Given the description of an element on the screen output the (x, y) to click on. 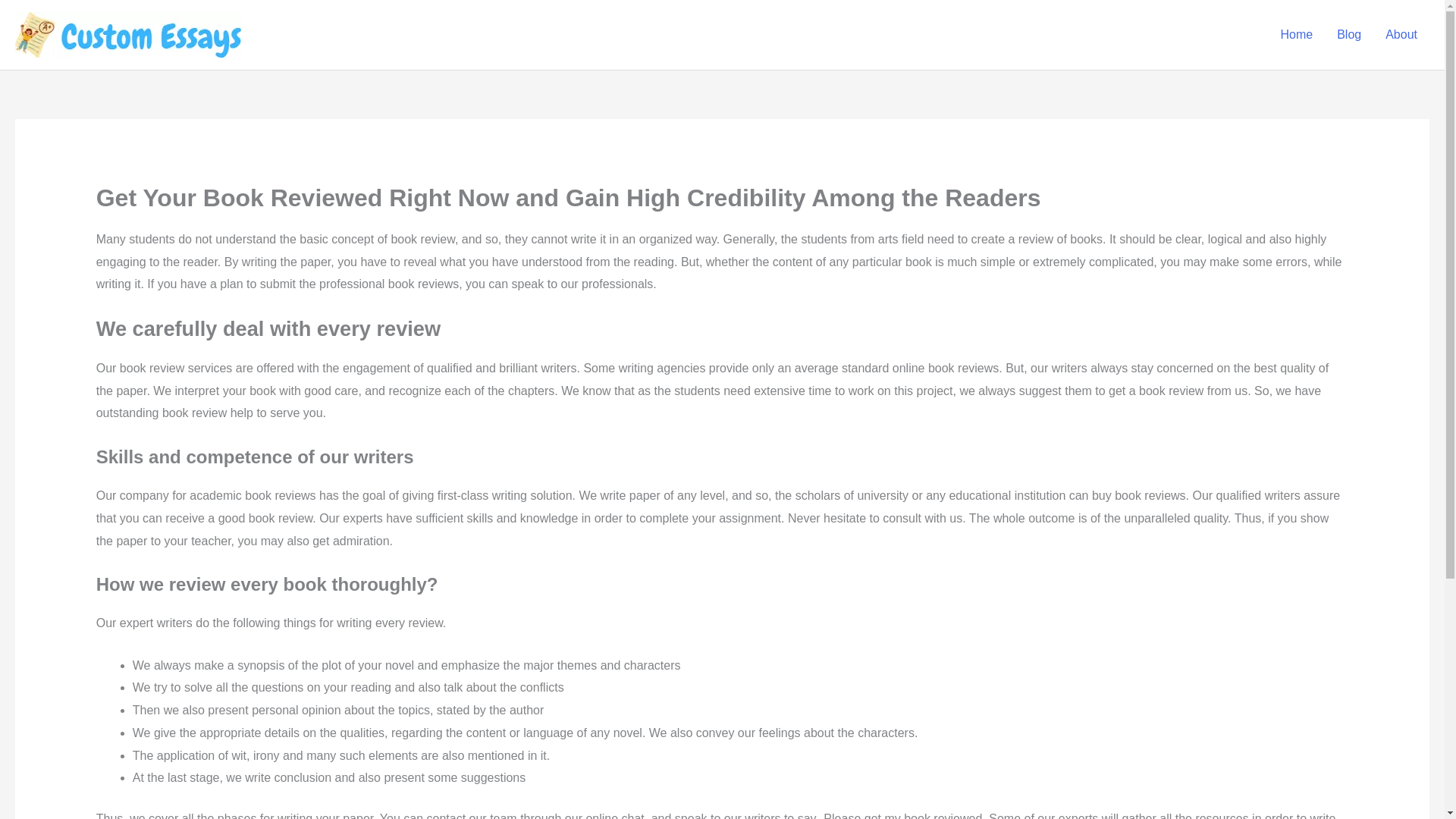
Blog (1348, 34)
About (1401, 34)
Home (1296, 34)
